Given the description of an element on the screen output the (x, y) to click on. 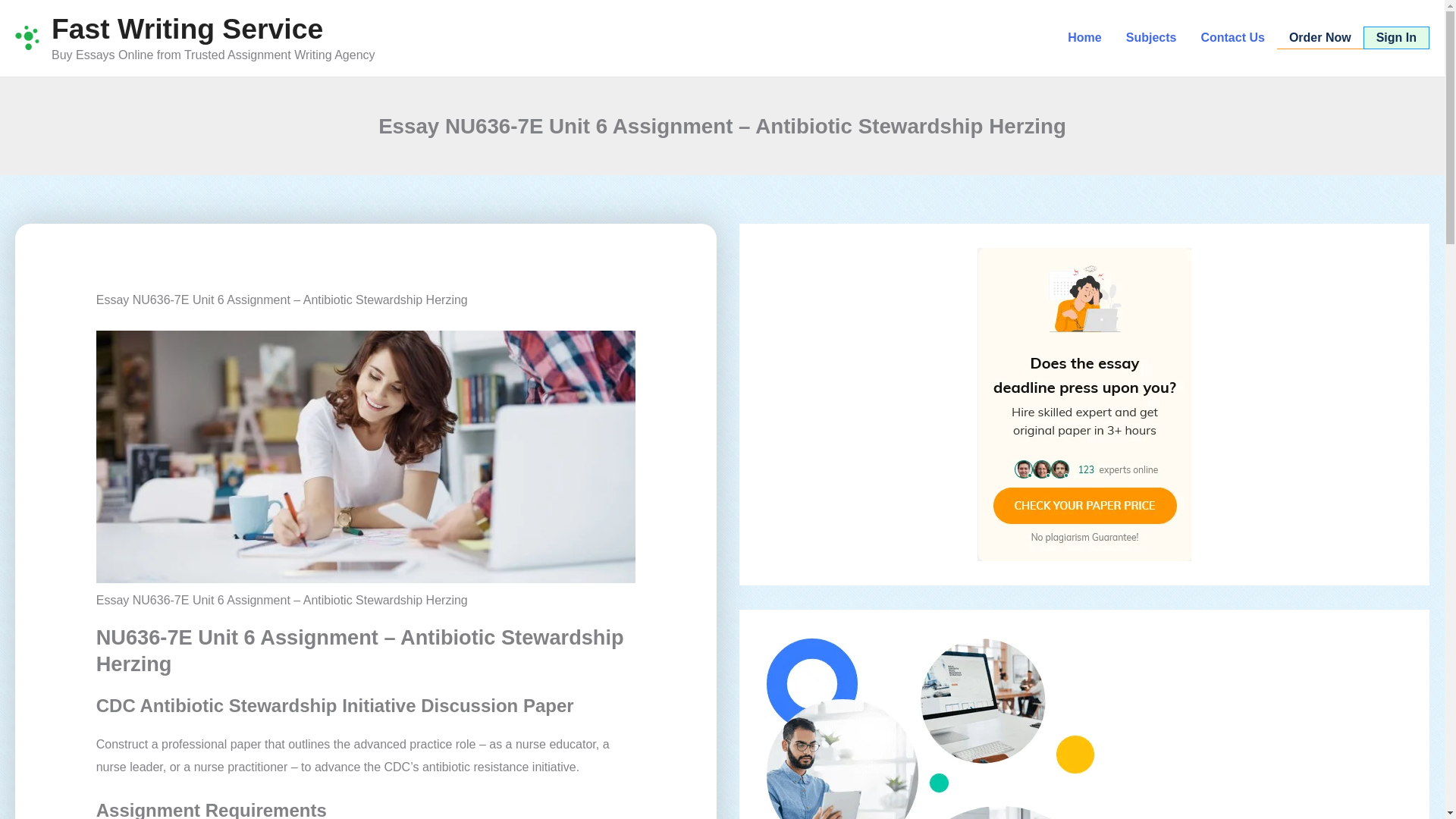
Subjects (1151, 37)
Home (1084, 37)
Sign In (1395, 37)
Fast Writing Service (186, 29)
Order Now (1319, 37)
Contact Us (1232, 37)
